Given the description of an element on the screen output the (x, y) to click on. 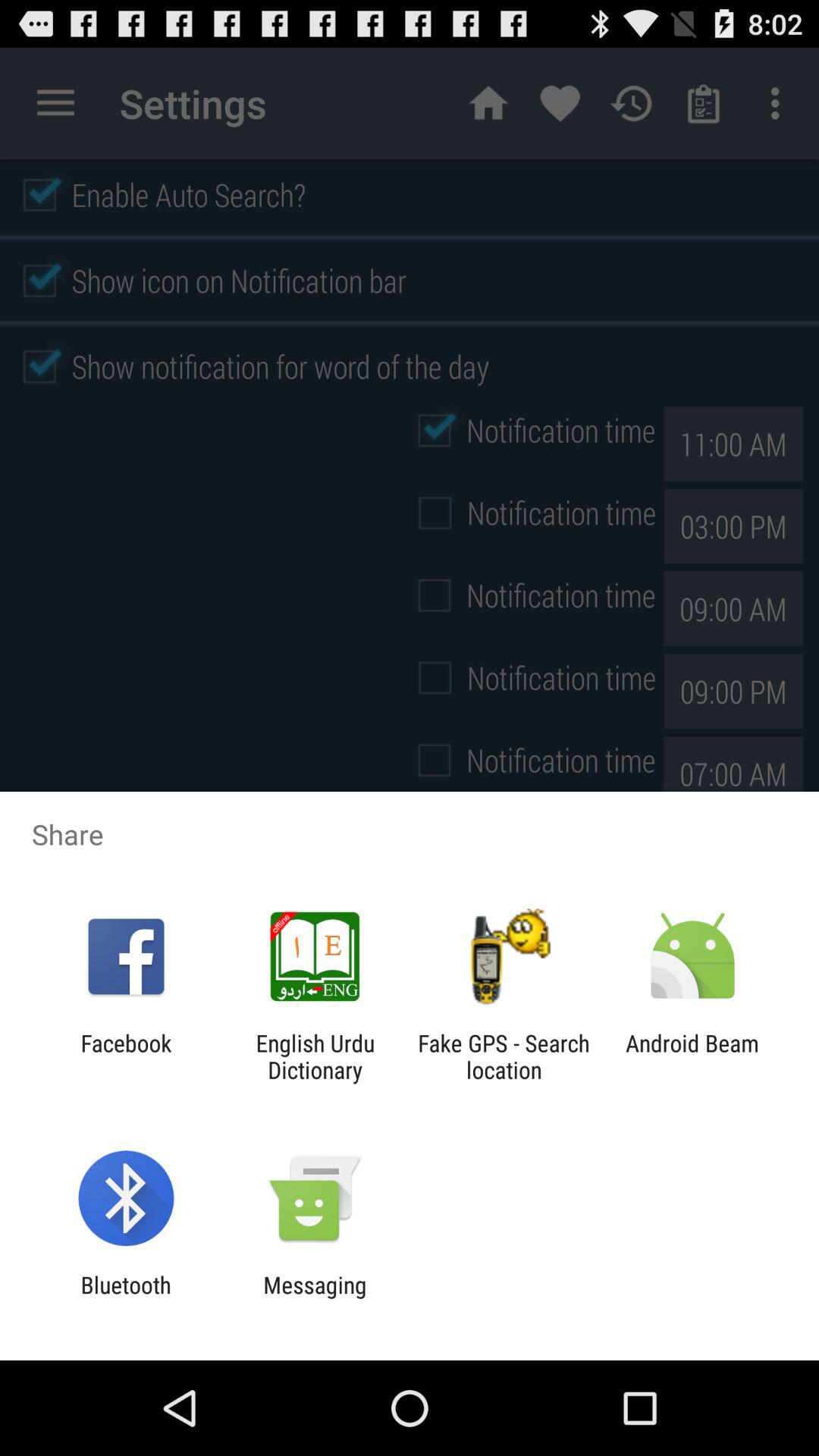
launch the app to the left of fake gps search (314, 1056)
